Given the description of an element on the screen output the (x, y) to click on. 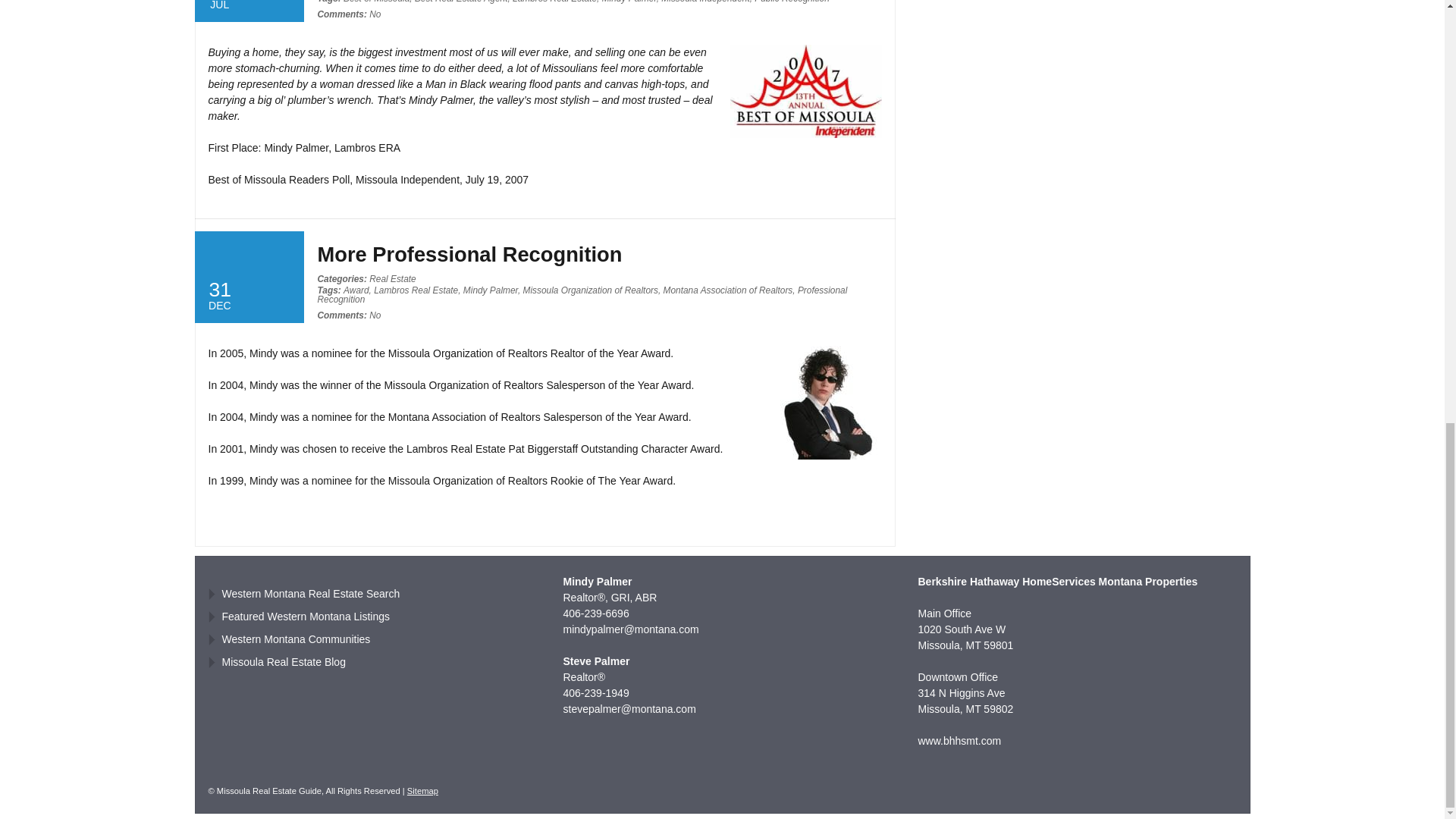
Mindy Palmer (629, 2)
Real Estate (391, 278)
More Professional Recognition (469, 254)
Comments: No (348, 14)
July 19, 2007 (247, 10)
December 31, 2005 (247, 276)
Best of Missoula (376, 2)
Public Recognition (791, 2)
Missoula Independent (705, 2)
Lambros Real Estate (554, 2)
Best Real Estate Agent (461, 2)
